Given the description of an element on the screen output the (x, y) to click on. 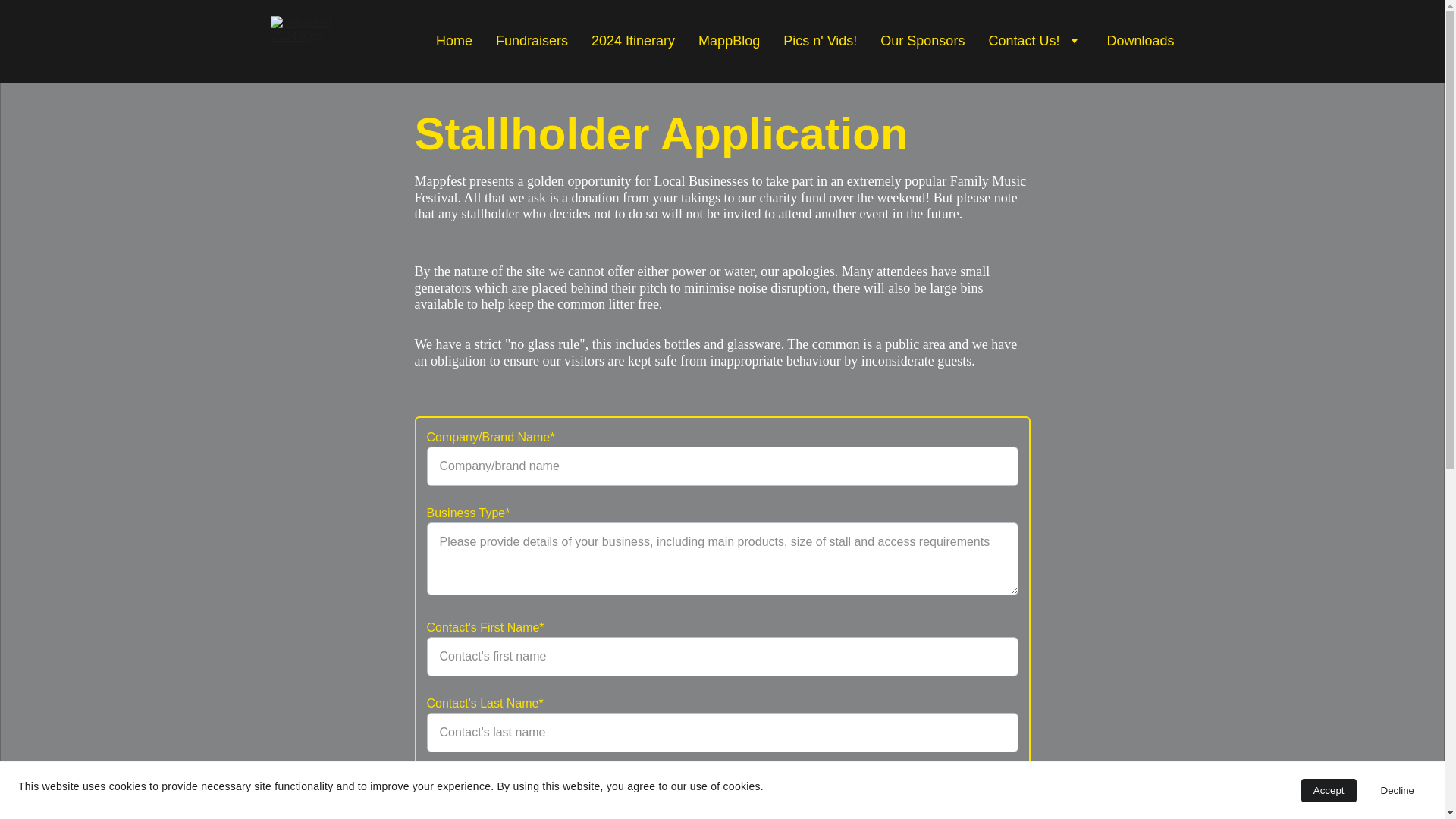
Downloads (1139, 41)
Contact Us! (1023, 41)
2024 Itinerary (633, 41)
Accept (1328, 790)
Pics n' Vids! (820, 41)
Home (453, 41)
Fundraisers (531, 41)
Our Sponsors (921, 41)
MappBlog (729, 41)
Decline (1397, 790)
